Given the description of an element on the screen output the (x, y) to click on. 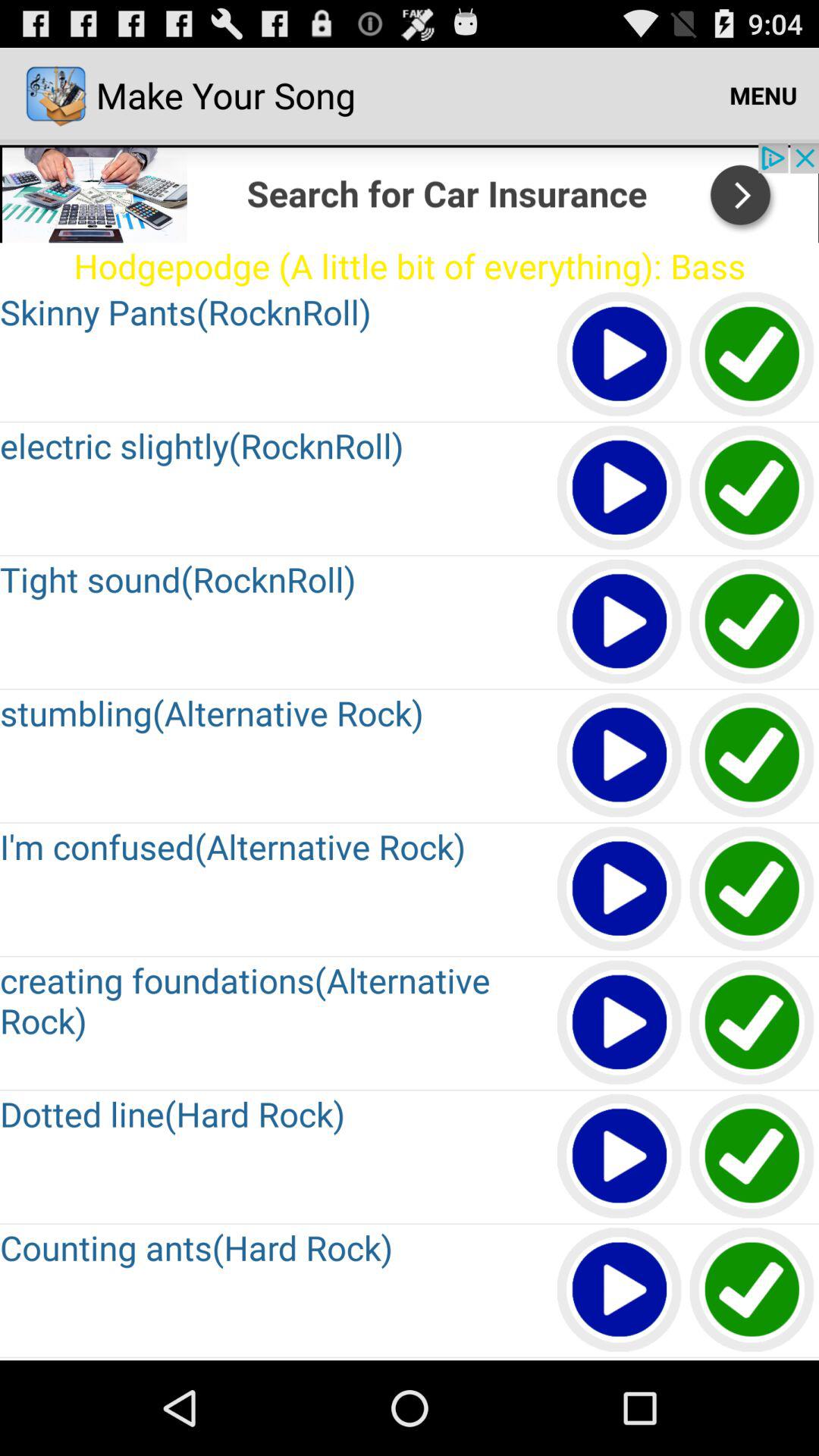
go back (752, 889)
